Given the description of an element on the screen output the (x, y) to click on. 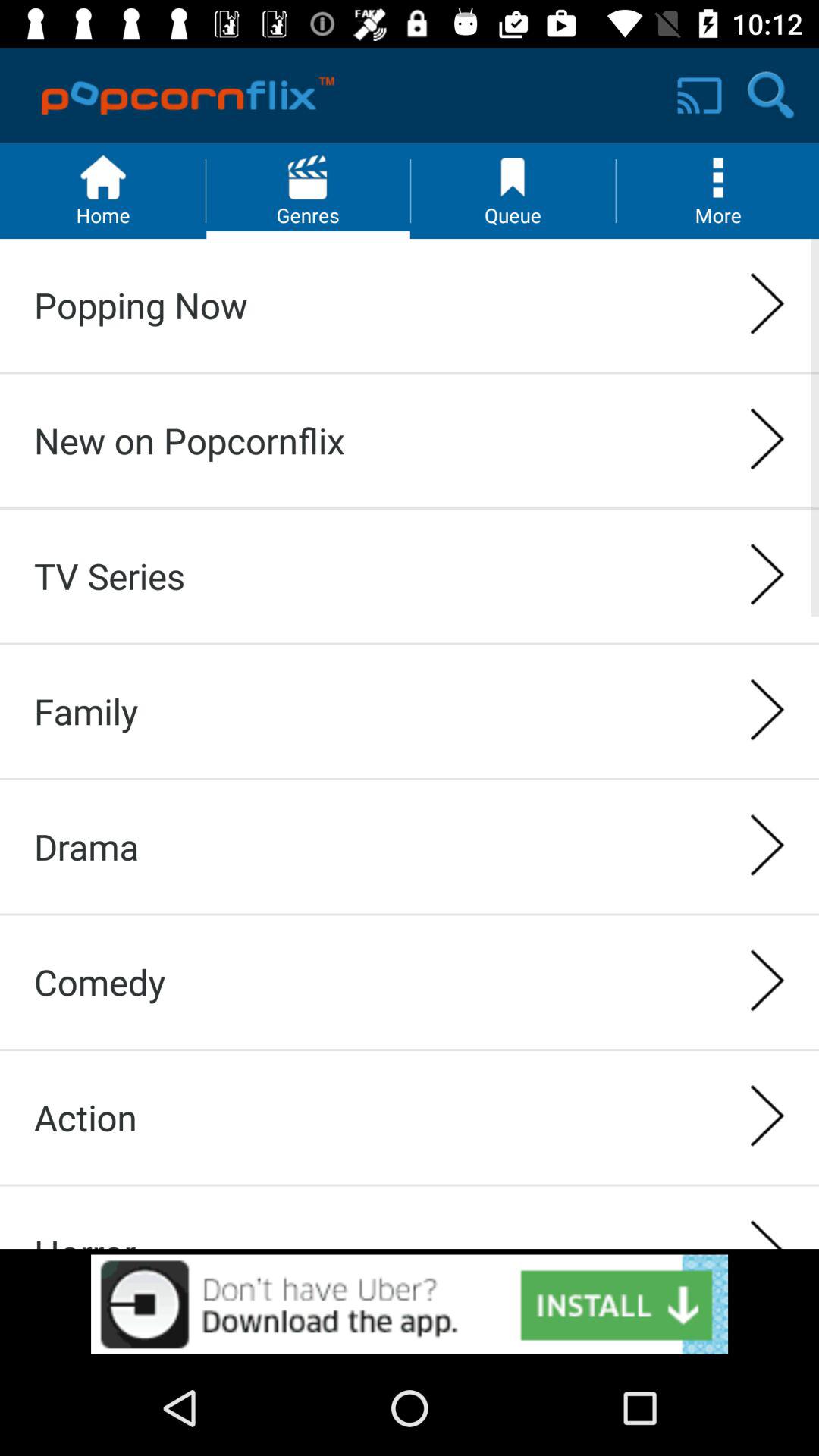
select the logo on left to the screen cast button on the web page (187, 95)
click on the search icon (771, 95)
click the icon above genres (307, 178)
select the image left to genres (103, 190)
click the right arrow icon right to comedy (767, 982)
click on the symbol right next to tv series (767, 575)
click on the symbol right next to new on popcornflix (767, 441)
